Given the description of an element on the screen output the (x, y) to click on. 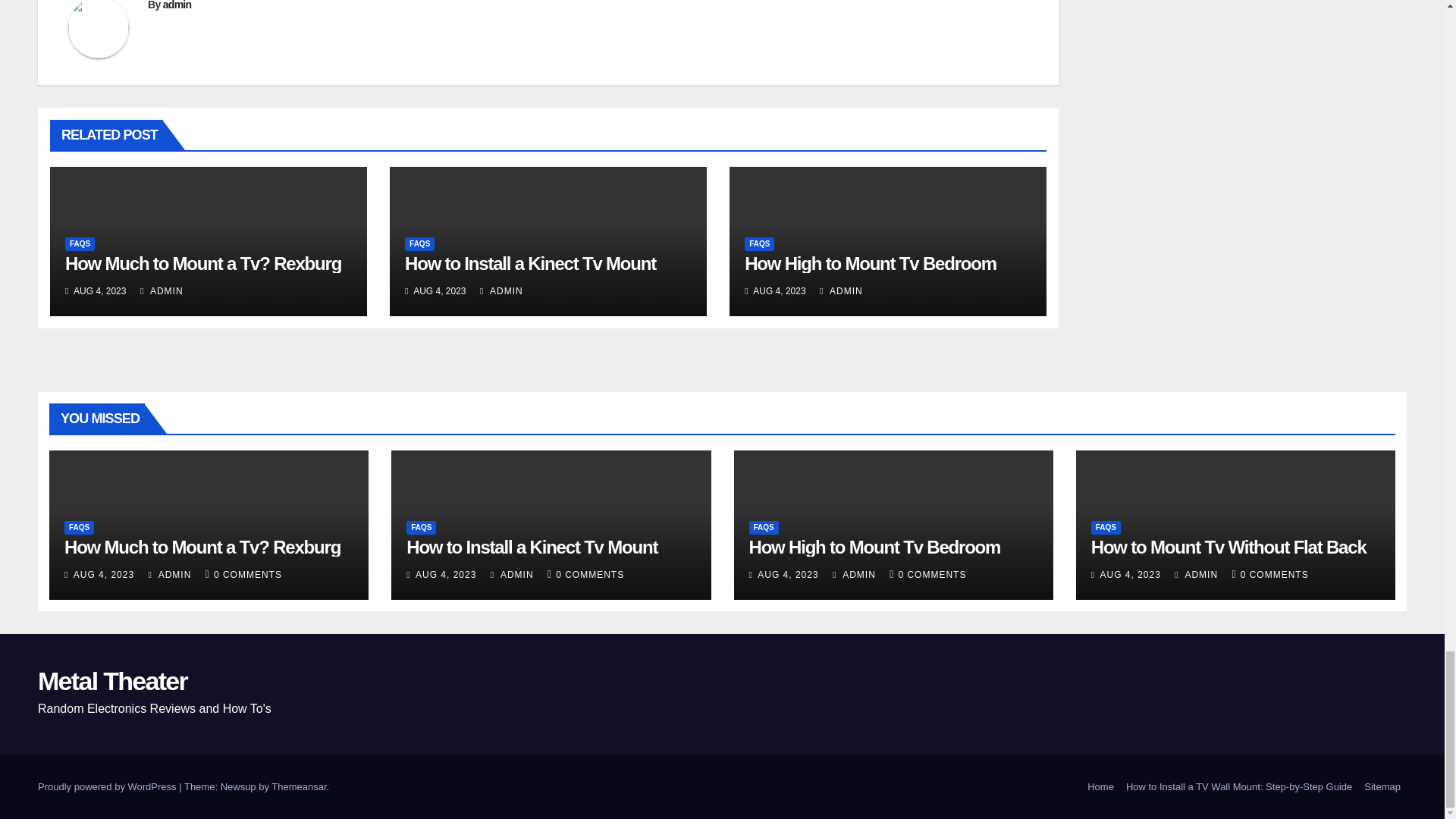
Permalink to: How High to Mount Tv Bedroom (869, 263)
Permalink to: How Much to Mount a Tv? Rexburg (202, 547)
Permalink to: How to Install a Kinect Tv Mount (530, 263)
Permalink to: How Much to Mount a Tv? Rexburg (202, 263)
